Given the description of an element on the screen output the (x, y) to click on. 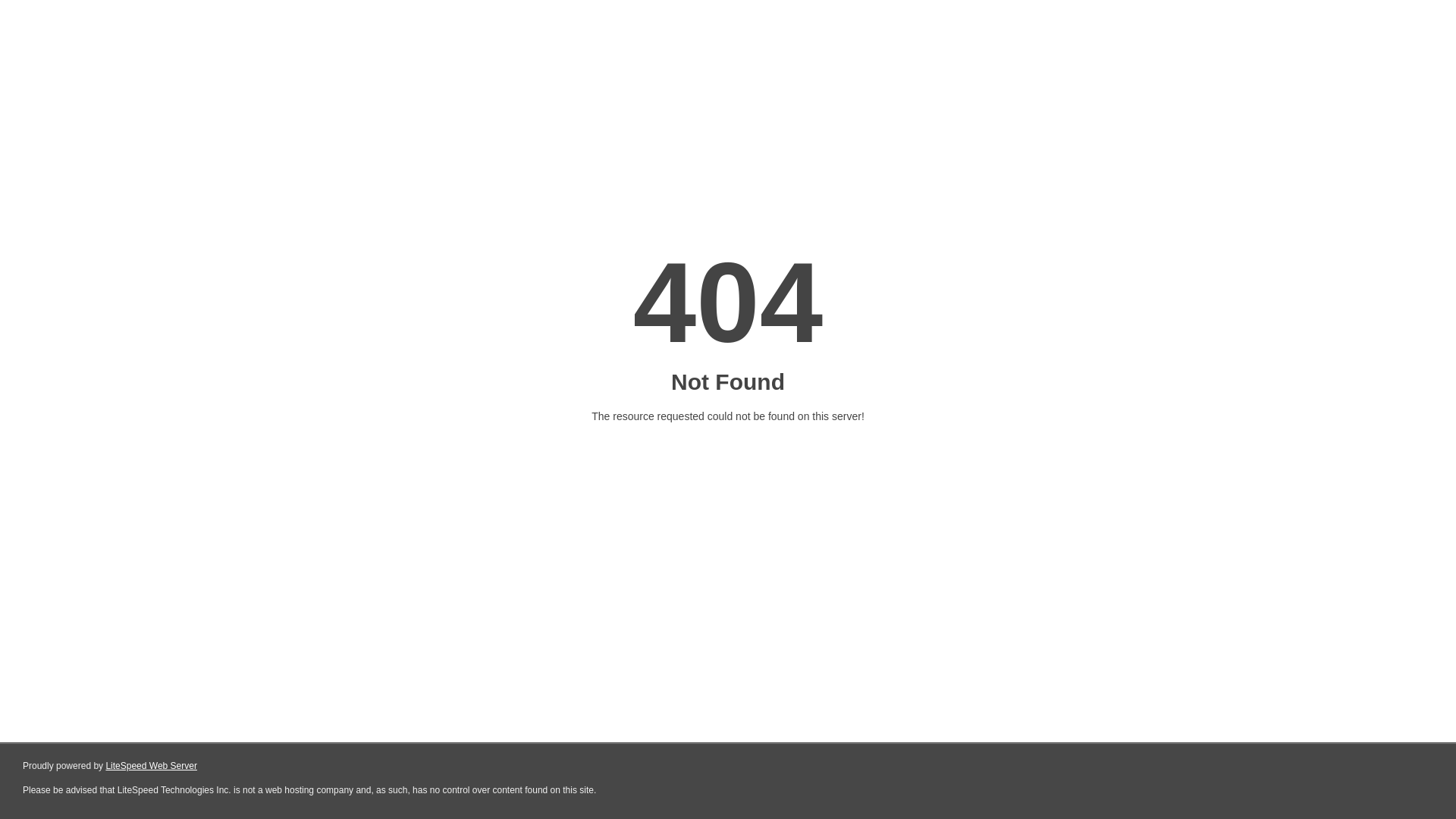
LiteSpeed Web Server Element type: text (151, 765)
